Given the description of an element on the screen output the (x, y) to click on. 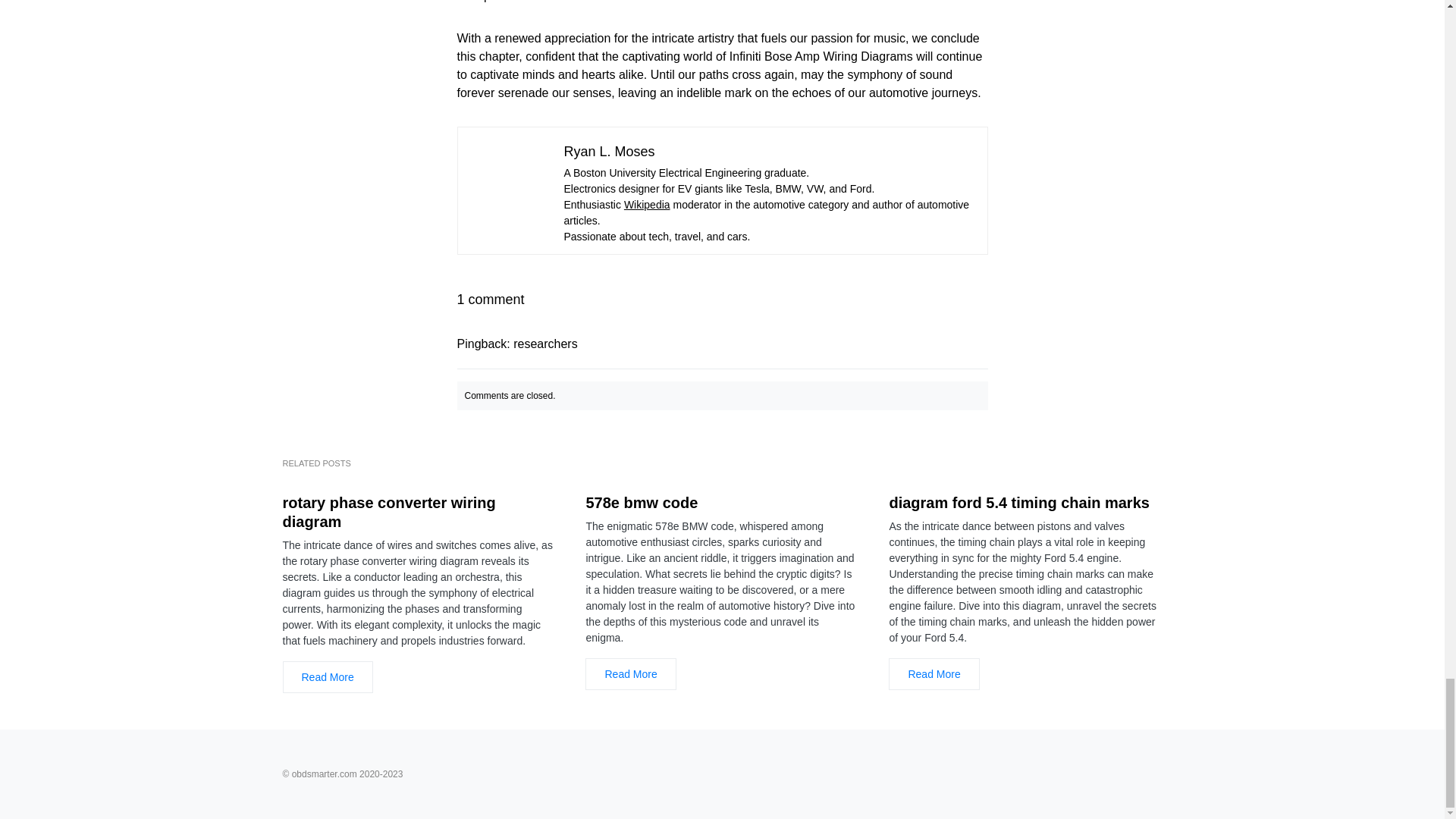
researchers (544, 343)
Wikipedia (646, 204)
Ryan L. Moses (609, 151)
rotary phase converter wiring diagram (418, 512)
